Given the description of an element on the screen output the (x, y) to click on. 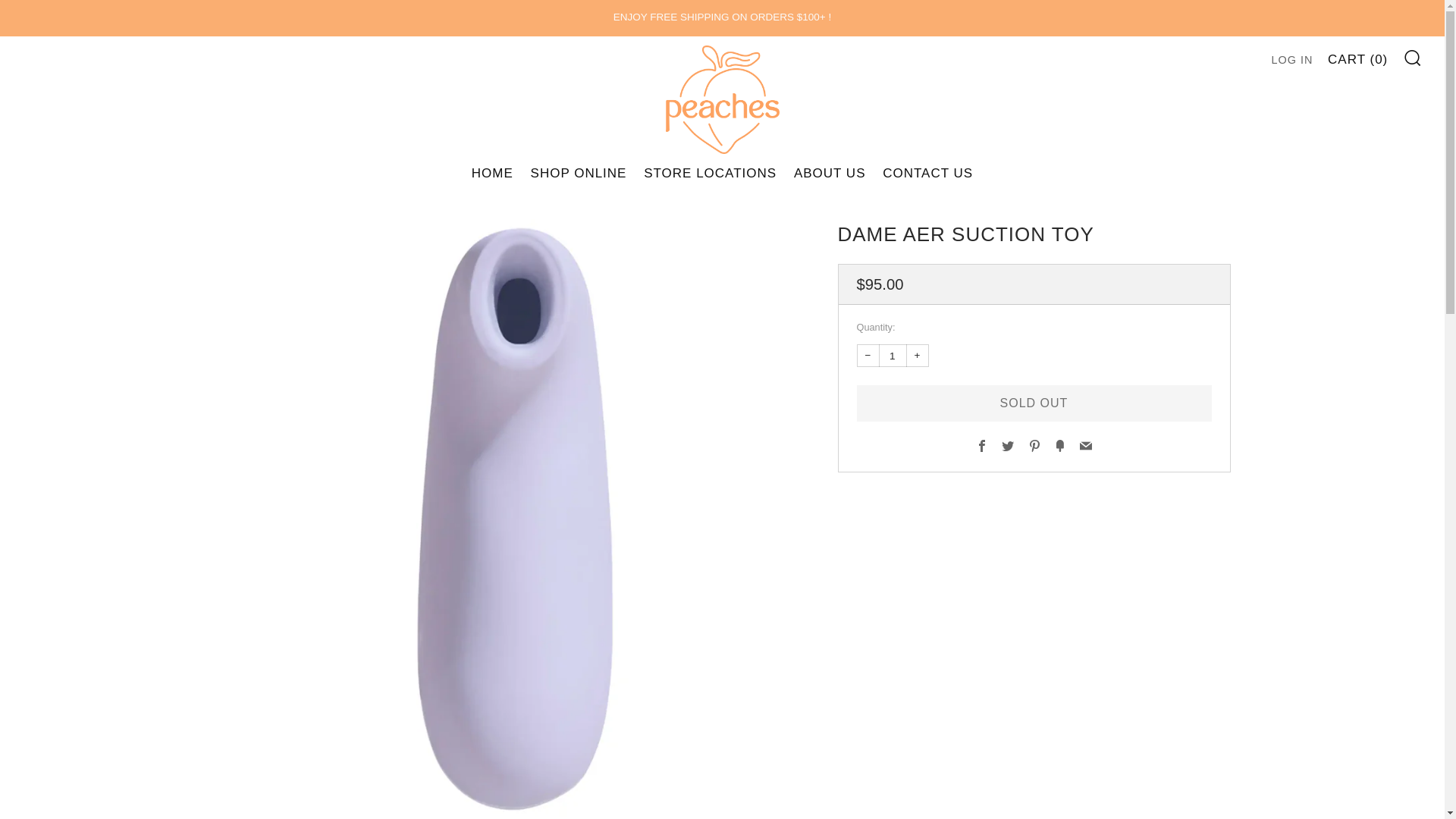
Facebook (981, 445)
HOME (492, 172)
ABOUT US (829, 172)
SHOP ONLINE (579, 172)
Email (1086, 445)
Fancy (1059, 445)
LOG IN (1292, 59)
CONTACT US (927, 172)
Pinterest (1034, 445)
SOLD OUT (1034, 402)
